Given the description of an element on the screen output the (x, y) to click on. 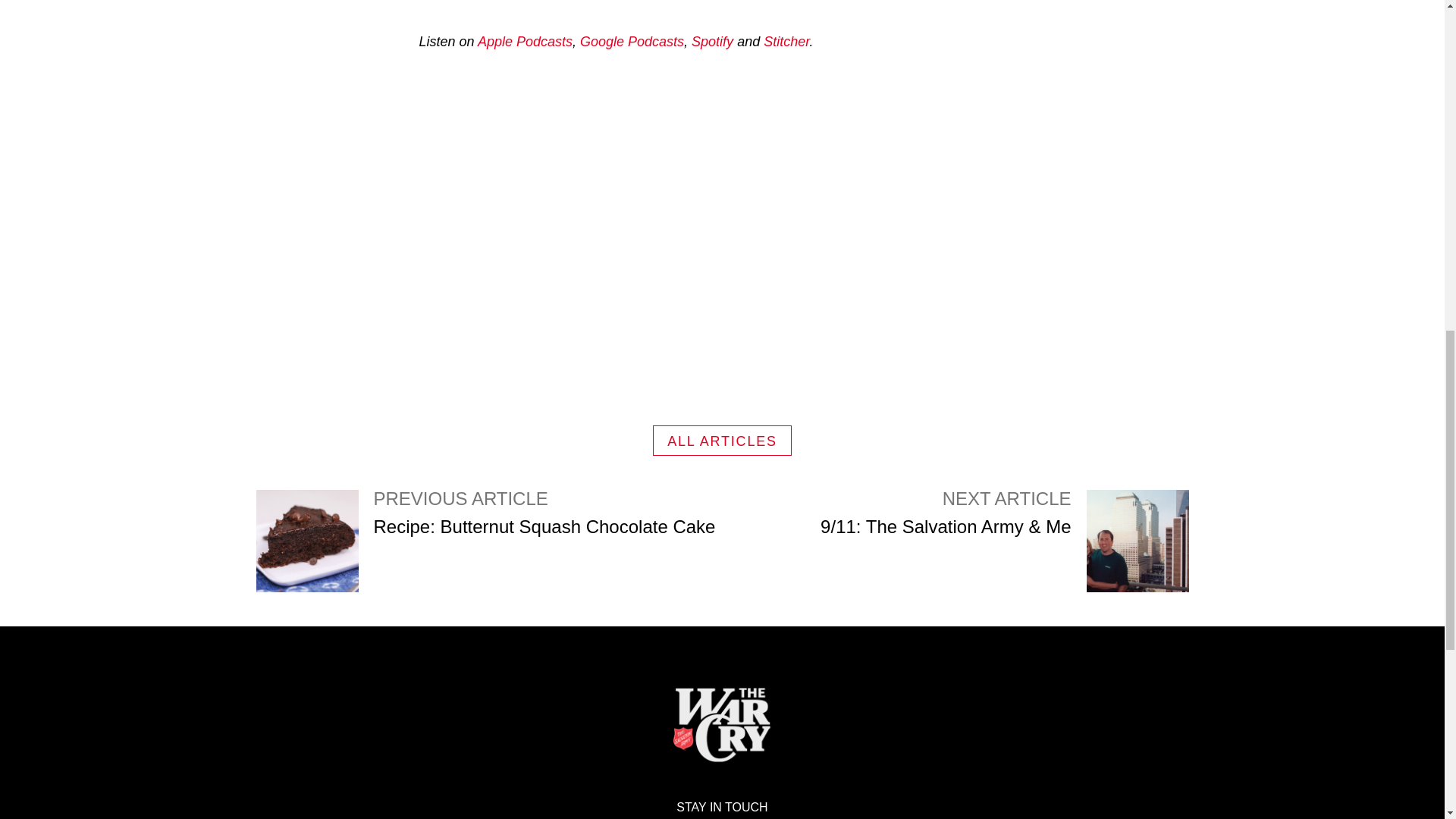
Google Podcasts (631, 41)
ALL ARTICLES (722, 440)
Spotify (712, 41)
Apple Podcasts (524, 41)
Stitcher (489, 540)
Spotify Embed: 89. Bervelly Santime (785, 41)
